Given the description of an element on the screen output the (x, y) to click on. 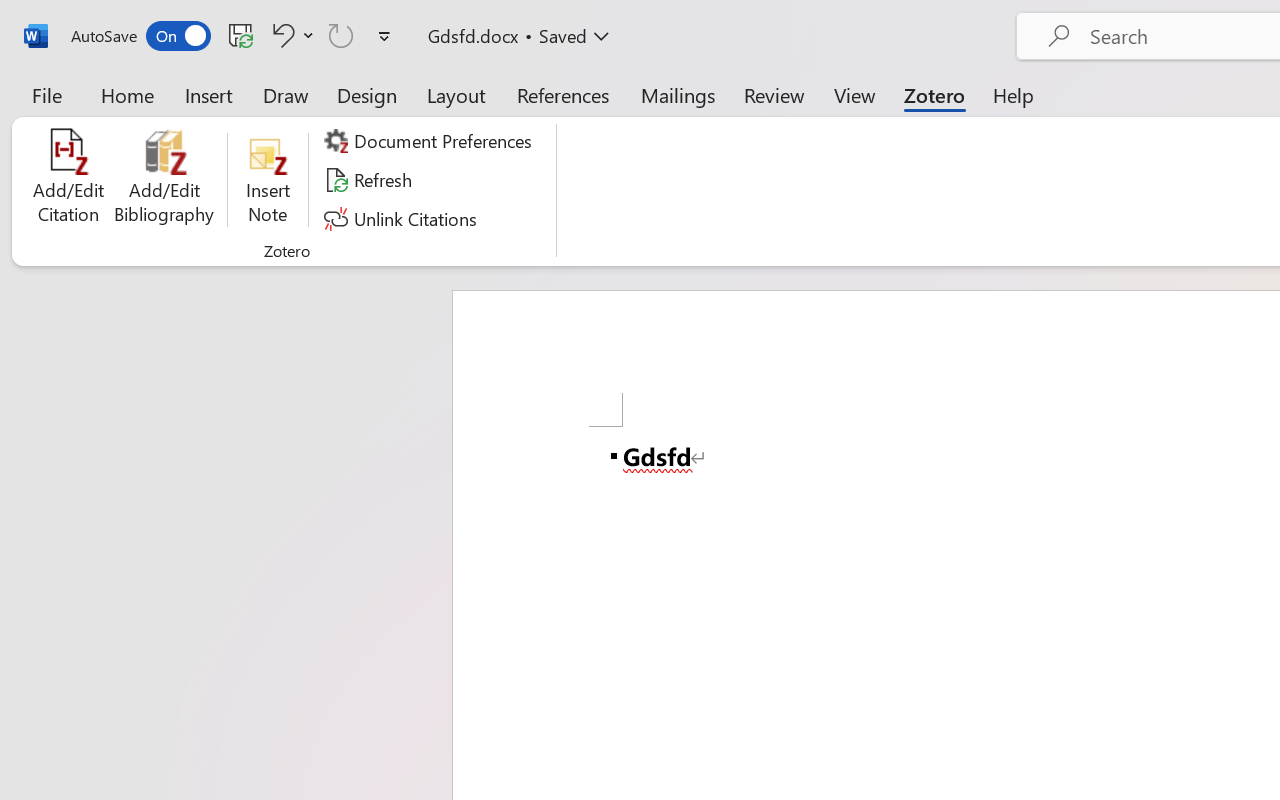
Insert Note (267, 179)
Undo <ApplyStyleToDoc>b__0 (280, 35)
